Given the description of an element on the screen output the (x, y) to click on. 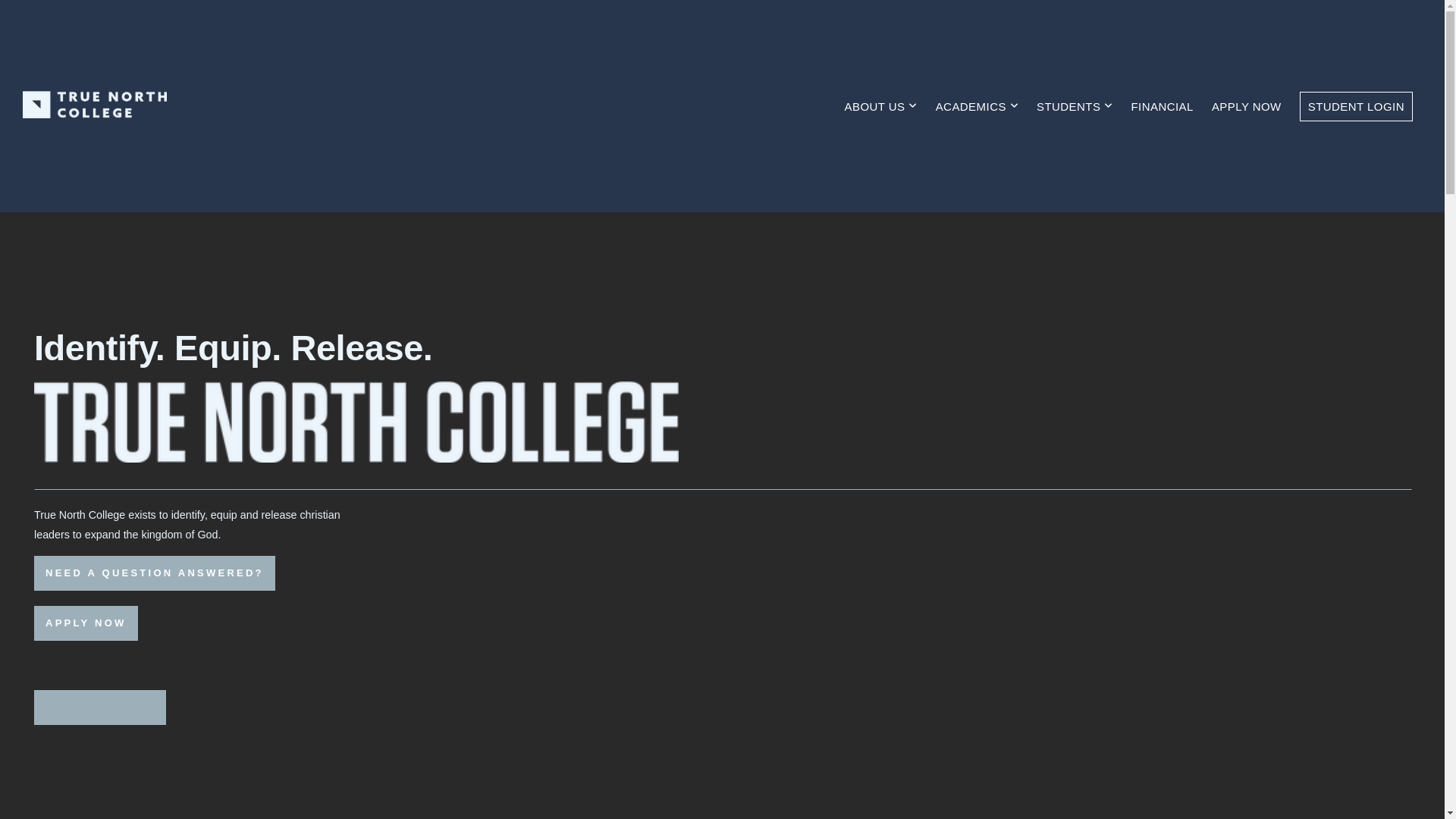
FINANCIAL Element type: text (1161, 106)
OPEN COURSES Element type: text (100, 707)
APPLY NOW Element type: text (86, 622)
STUDENT LOGIN Element type: text (1355, 105)
ABOUT US  Element type: text (881, 106)
APPLY NOW Element type: text (1246, 106)
NEED A QUESTION ANSWERED? Element type: text (154, 572)
STUDENTS  Element type: text (1074, 106)
ACADEMICS  Element type: text (977, 106)
